Given the description of an element on the screen output the (x, y) to click on. 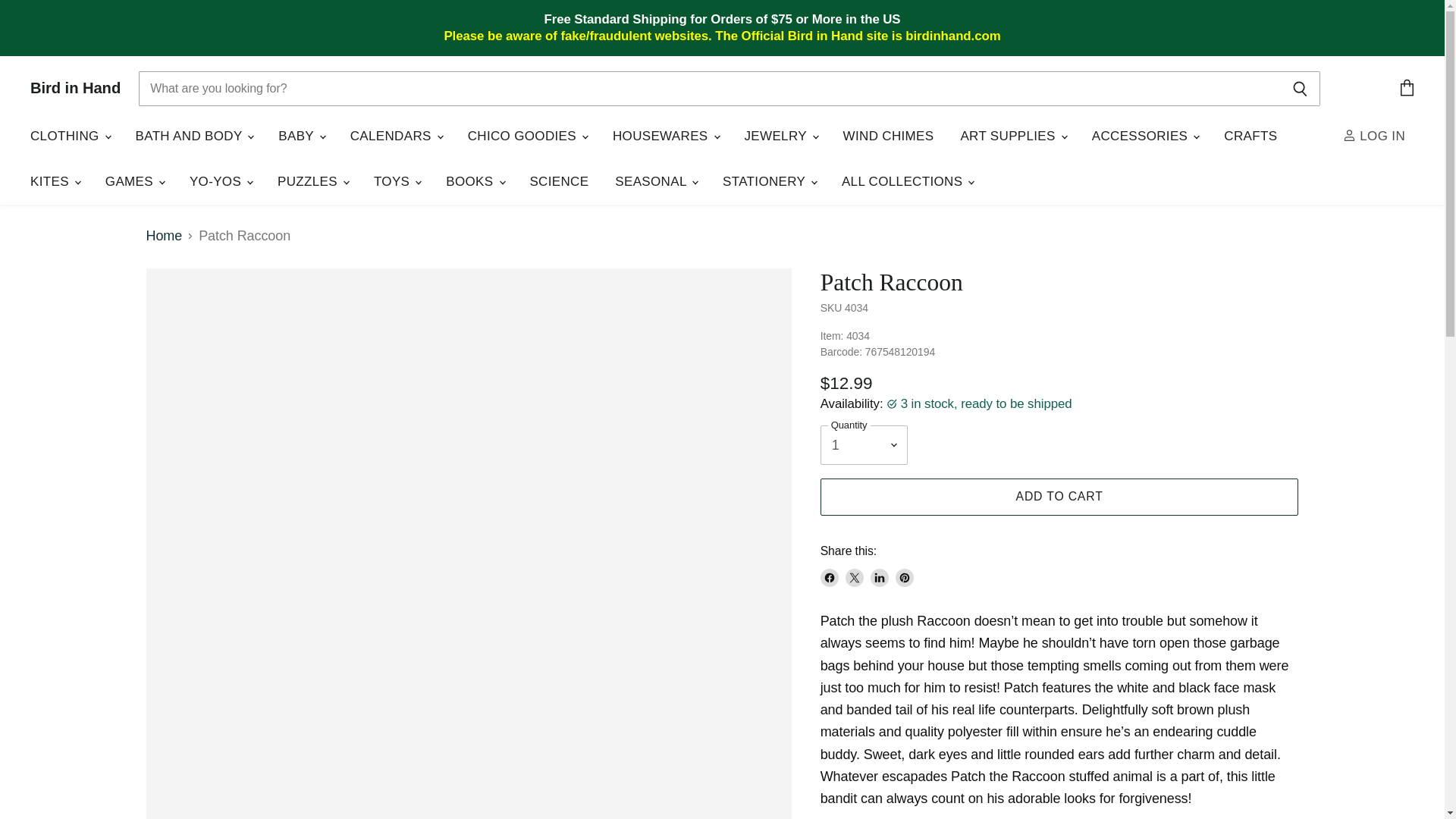
Bird in Hand (75, 88)
CALENDARS (395, 136)
HOUSEWARES (665, 136)
BATH AND BODY (193, 136)
BABY (300, 136)
CLOTHING (69, 136)
CHICO GOODIES (526, 136)
